Given the description of an element on the screen output the (x, y) to click on. 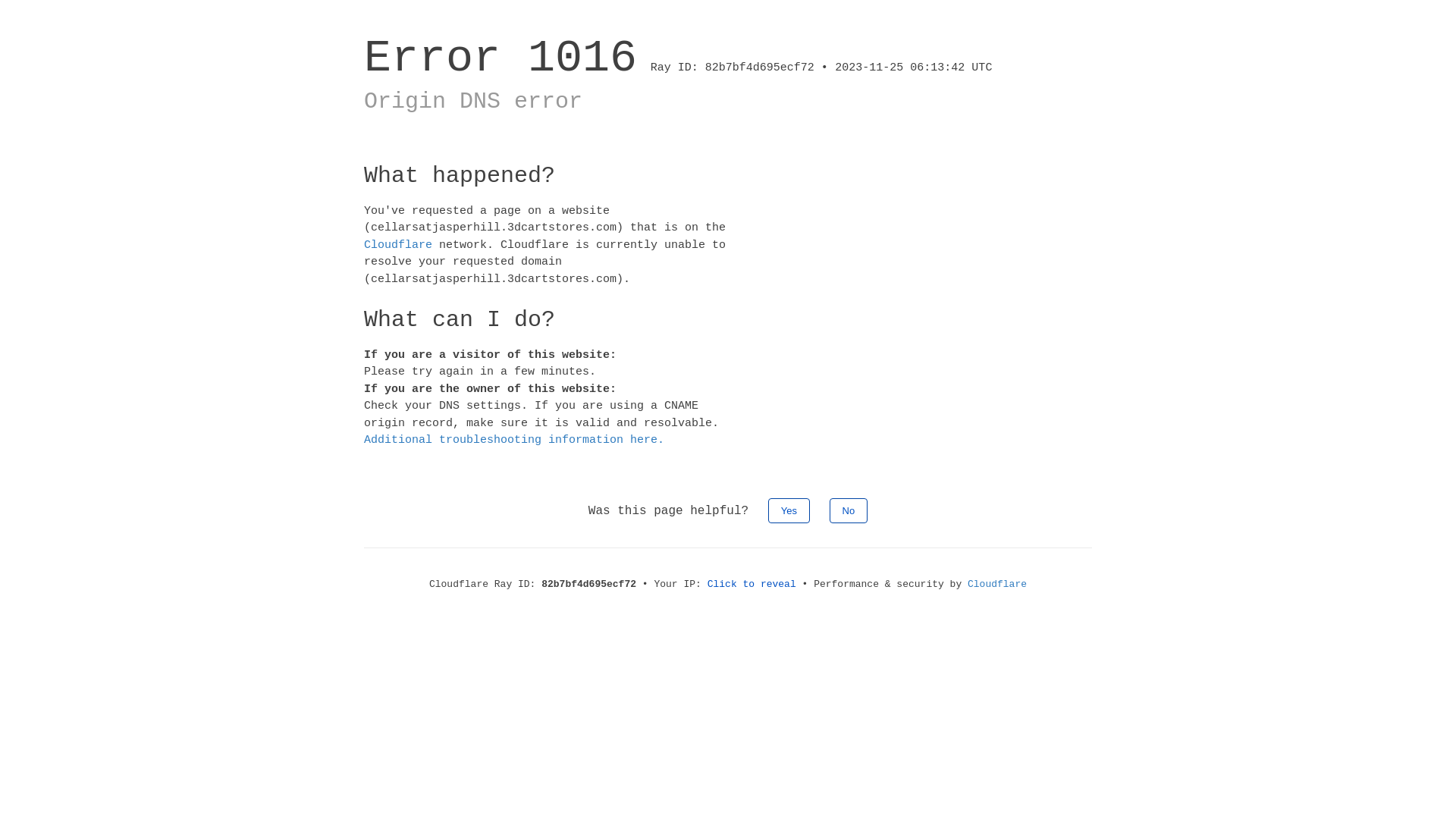
Cloudflare Element type: text (398, 244)
Additional troubleshooting information here. Element type: text (514, 439)
Yes Element type: text (788, 509)
Cloudflare Element type: text (996, 583)
Click to reveal Element type: text (751, 583)
No Element type: text (848, 509)
